Given the description of an element on the screen output the (x, y) to click on. 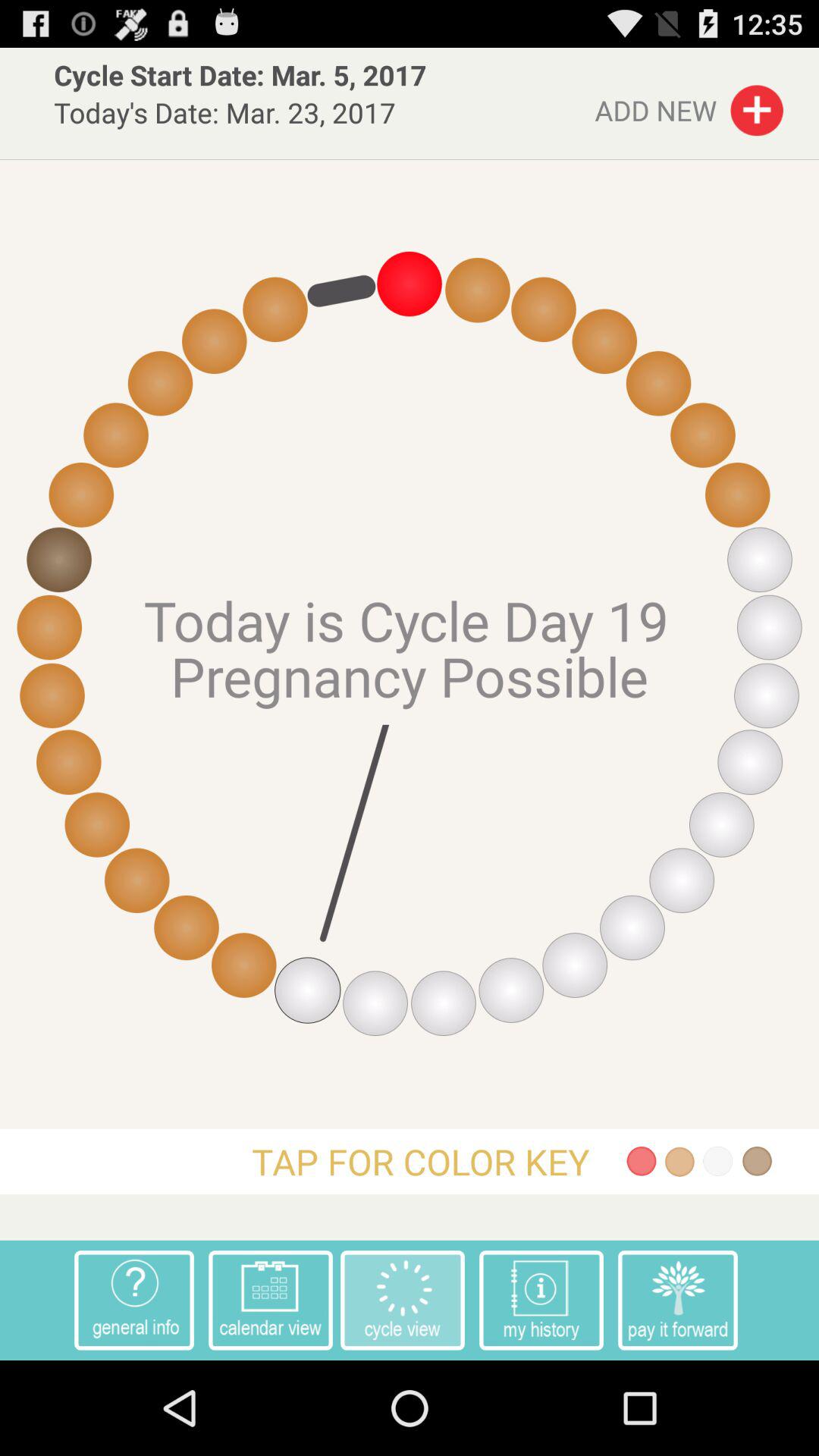
choose the item to the right of cycle start date item (688, 106)
